Given the description of an element on the screen output the (x, y) to click on. 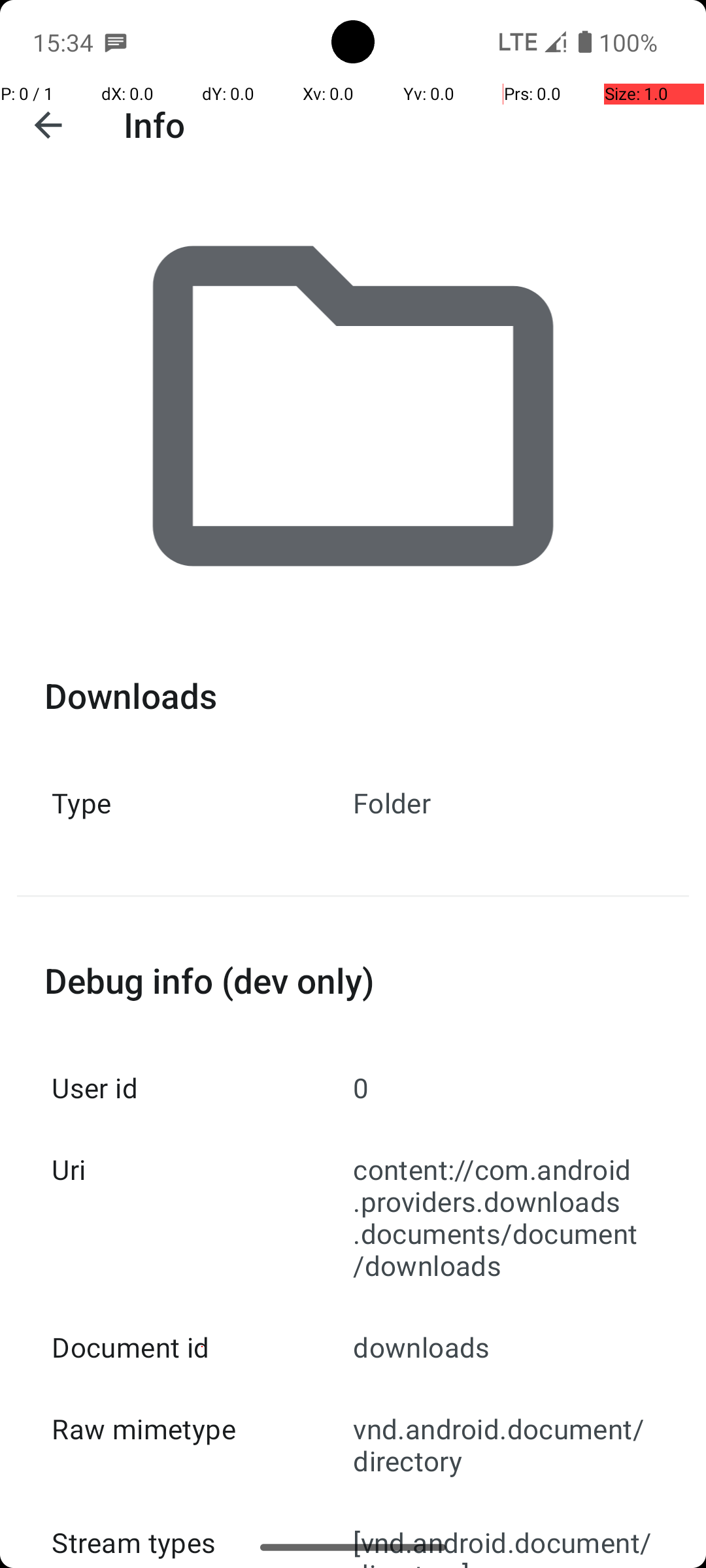
Info Element type: android.widget.TextView (153, 124)
Folder Element type: android.widget.TextView (503, 802)
Debug info (dev only) Element type: android.widget.TextView (352, 980)
User id Element type: android.widget.TextView (202, 1087)
Uri Element type: android.widget.TextView (202, 1168)
content://com.android.providers.downloads.documents/document/downloads Element type: android.widget.TextView (503, 1217)
Document id Element type: android.widget.TextView (202, 1346)
downloads Element type: android.widget.TextView (503, 1346)
Raw mimetype Element type: android.widget.TextView (202, 1428)
vnd.android.document/directory Element type: android.widget.TextView (503, 1444)
Stream types Element type: android.widget.TextView (202, 1534)
[vnd.android.document/directory] Element type: android.widget.TextView (503, 1534)
